Given the description of an element on the screen output the (x, y) to click on. 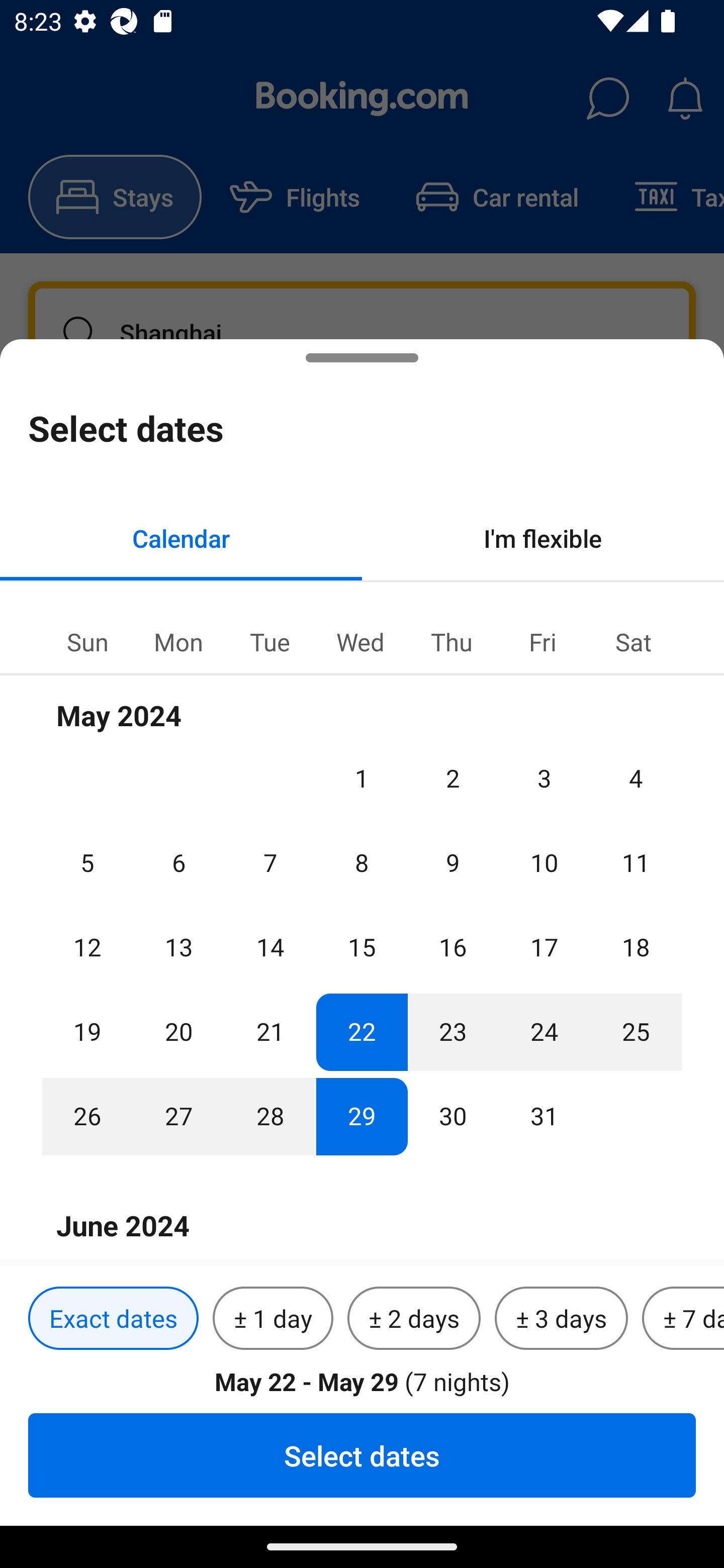
I'm flexible (543, 537)
Exact dates (113, 1318)
± 1 day (272, 1318)
± 2 days (413, 1318)
± 3 days (560, 1318)
± 7 days (683, 1318)
Select dates (361, 1454)
